Given the description of an element on the screen output the (x, y) to click on. 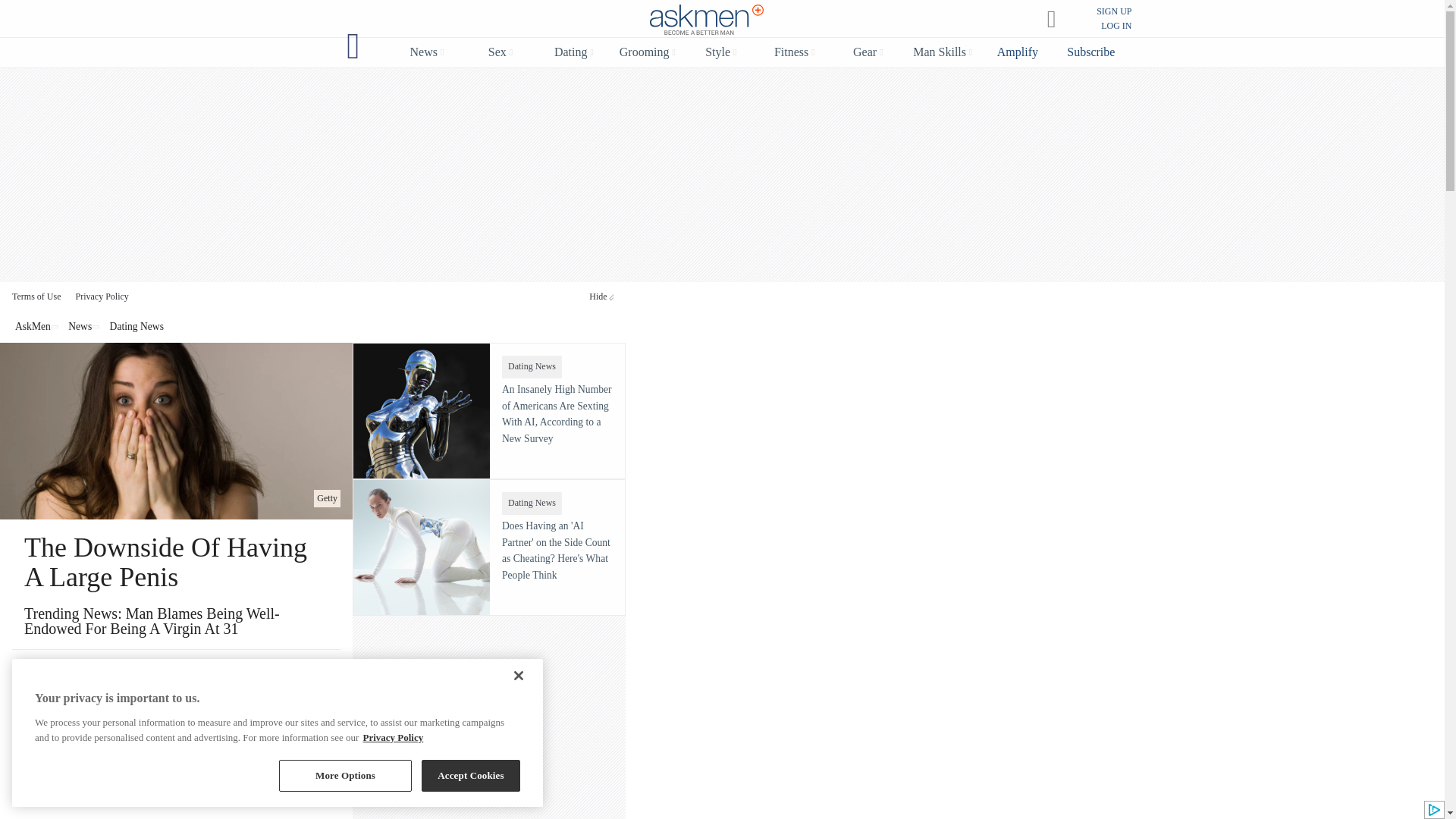
AskMen (706, 20)
GuyQ (352, 45)
SIGN UP (1113, 11)
LOG IN (1115, 25)
